Given the description of an element on the screen output the (x, y) to click on. 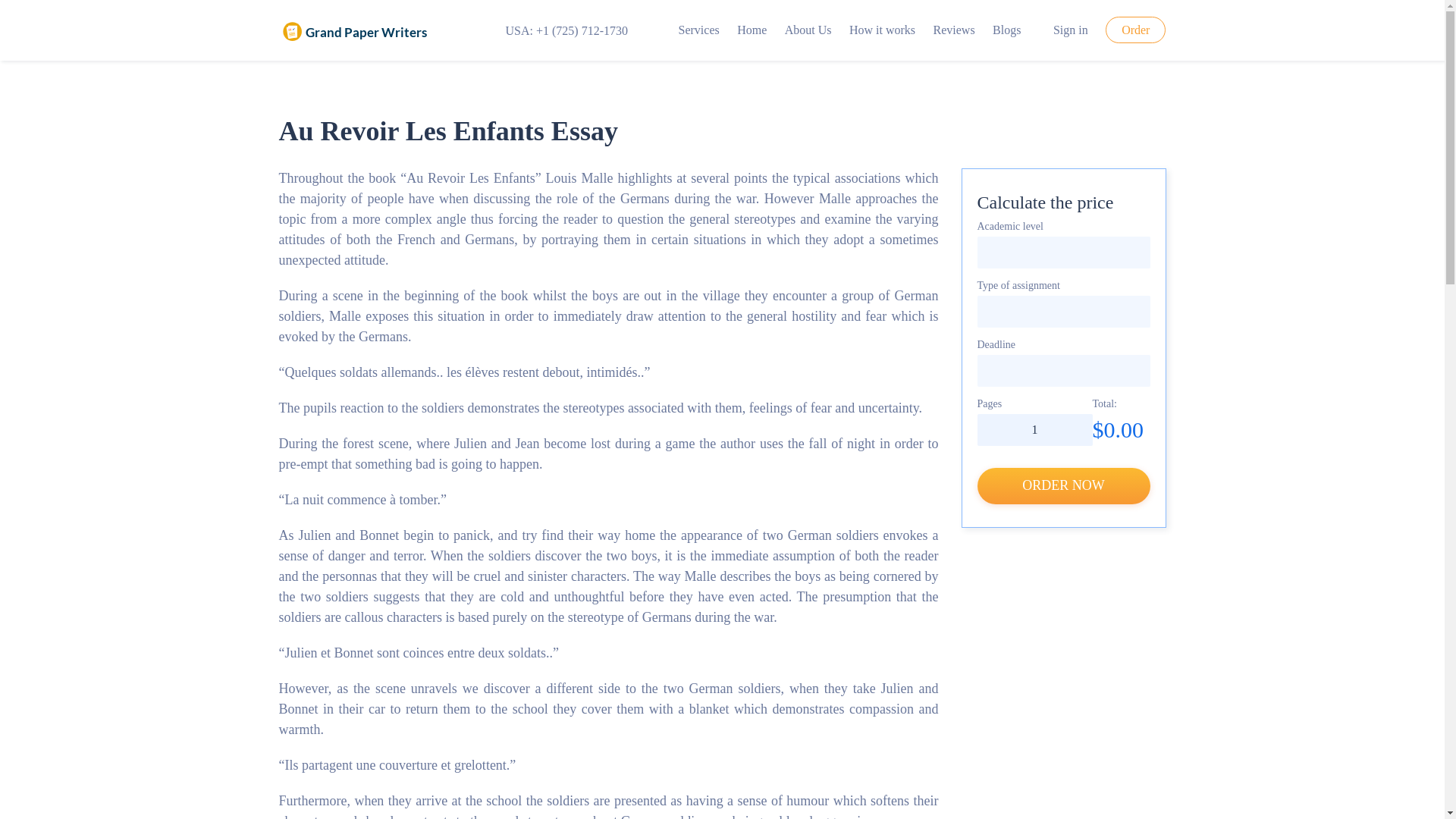
Order (1135, 29)
How it works (881, 29)
About Us (807, 29)
Home (751, 29)
Reviews (954, 29)
Blogs (1006, 29)
Sign in (1063, 29)
1 (1034, 429)
